Given the description of an element on the screen output the (x, y) to click on. 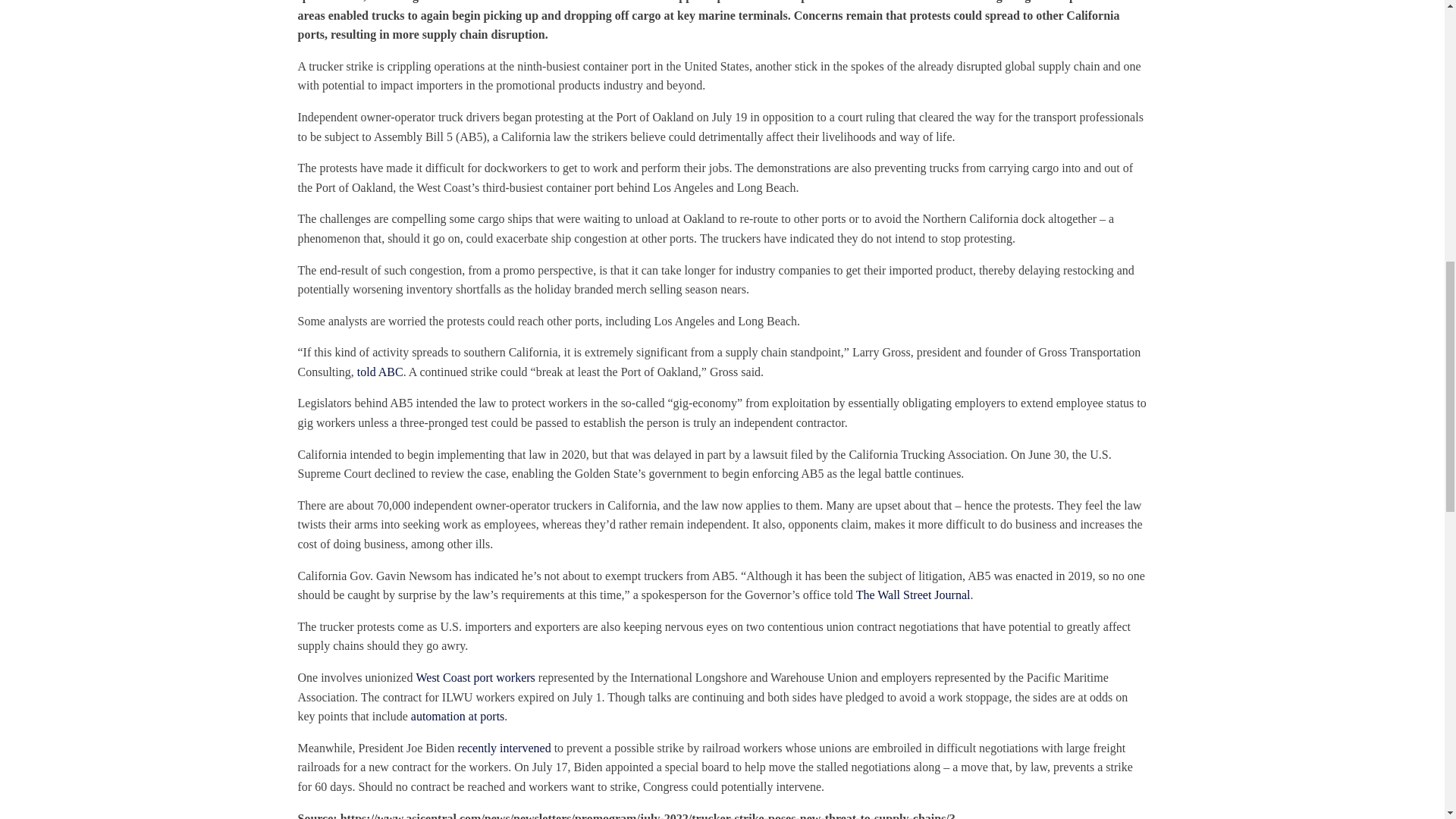
West Coast port workers (474, 676)
recently intervened (504, 748)
automation at ports (457, 716)
told ABC (379, 371)
The Wall Street Journal (913, 594)
